Given the description of an element on the screen output the (x, y) to click on. 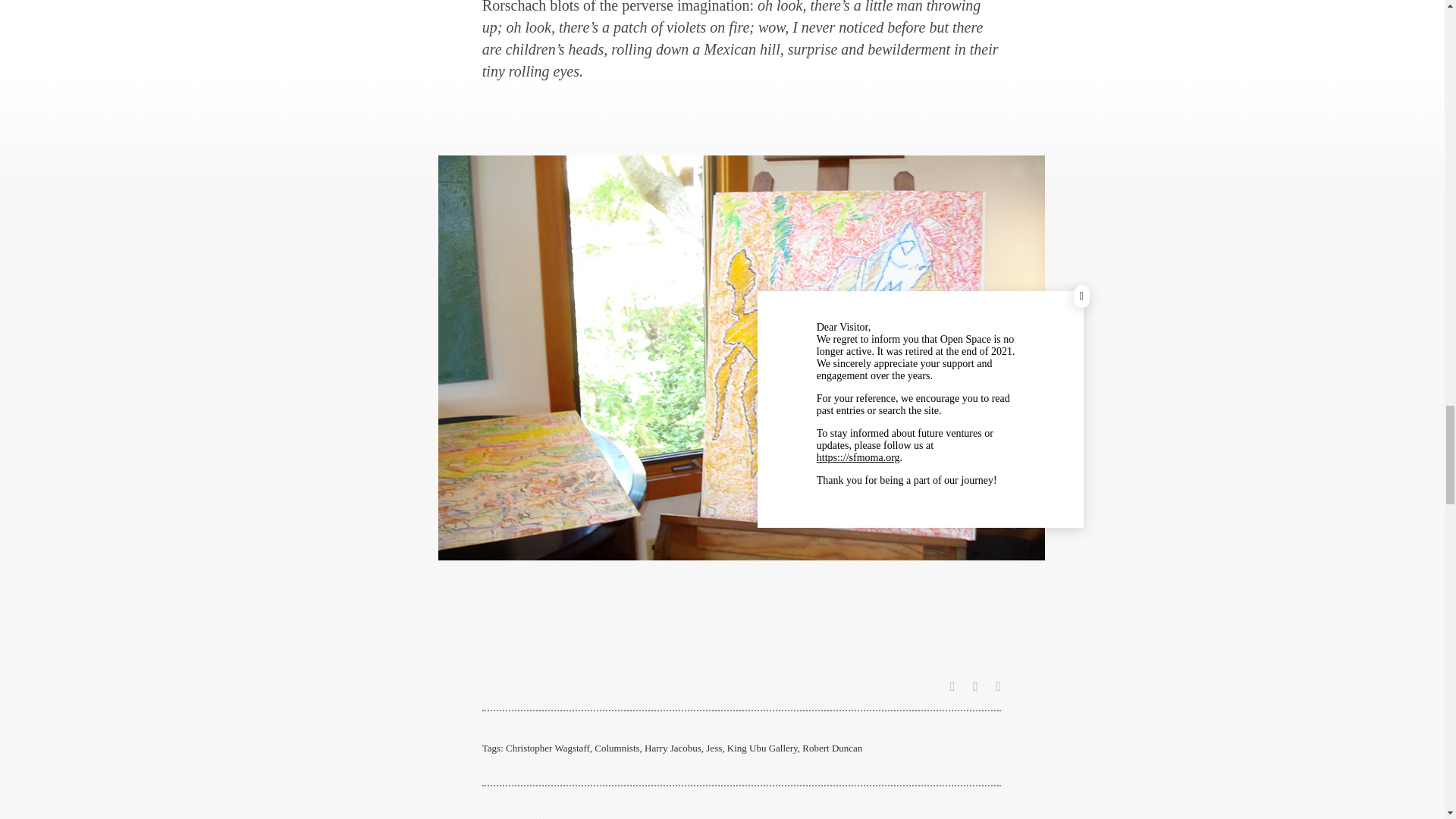
Robert Duncan (831, 747)
Jess (714, 747)
Columnists (616, 747)
King Ubu Gallery (761, 747)
Christopher Wagstaff (547, 747)
Harry Jacobus (673, 747)
